Given the description of an element on the screen output the (x, y) to click on. 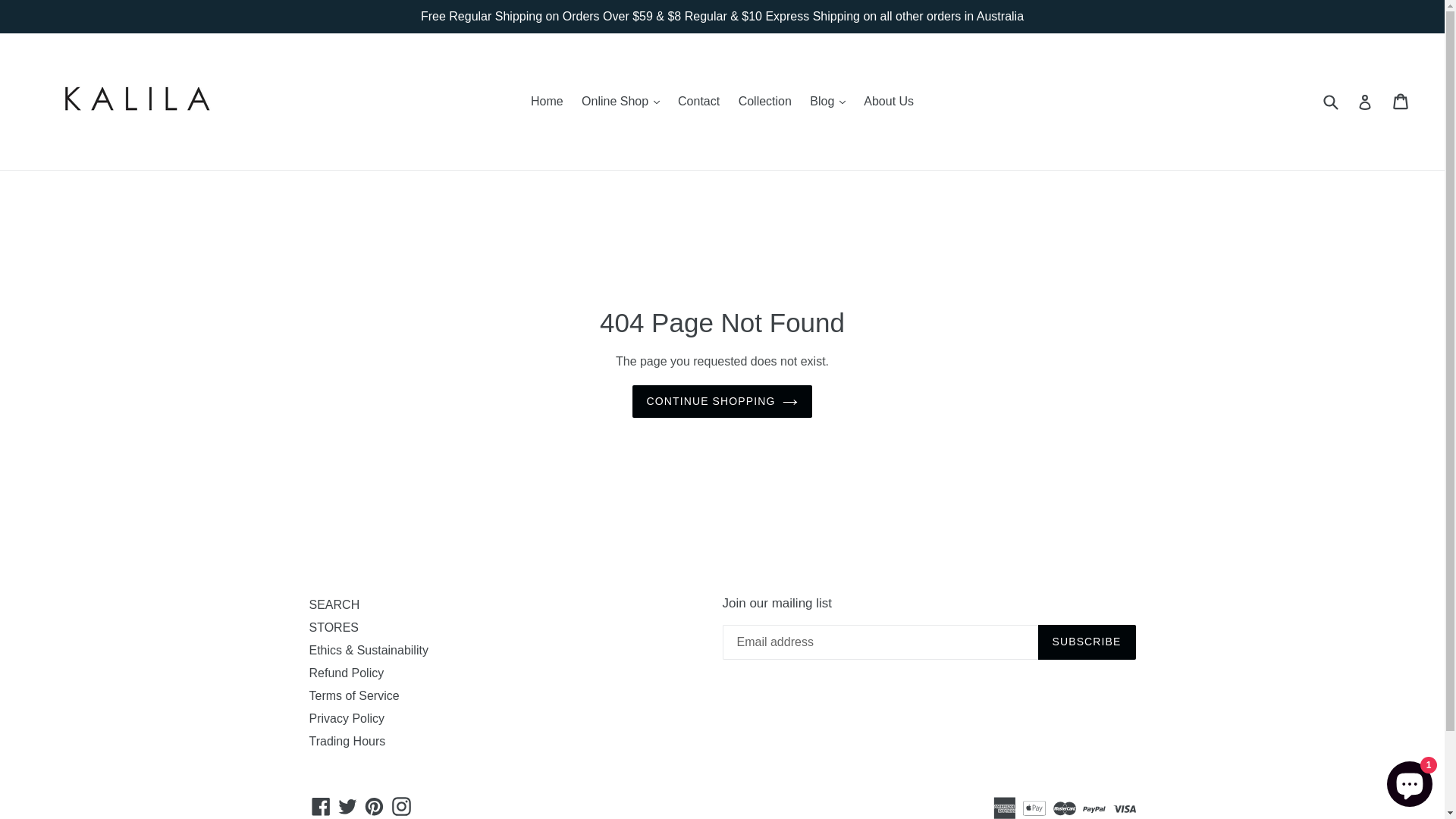
Terms of Service Element type: text (354, 695)
About Us Element type: text (888, 101)
Collection Element type: text (765, 101)
Trading Hours Element type: text (347, 740)
Log in Element type: text (1364, 101)
Shopify online store chat Element type: hover (1409, 780)
SUBSCRIBE Element type: text (1086, 641)
STORES Element type: text (334, 627)
SEARCH Element type: text (334, 604)
CONTINUE SHOPPING Element type: text (722, 401)
Pinterest Element type: text (373, 806)
Contact Element type: text (698, 101)
Home Element type: text (547, 101)
Twitter Element type: text (347, 806)
Privacy Policy Element type: text (347, 718)
Instagram Element type: text (401, 806)
Submit Element type: text (1329, 100)
Ethics & Sustainability Element type: text (368, 649)
Cart
Cart Element type: text (1401, 101)
Facebook Element type: text (320, 806)
Refund Policy Element type: text (346, 672)
